Given the description of an element on the screen output the (x, y) to click on. 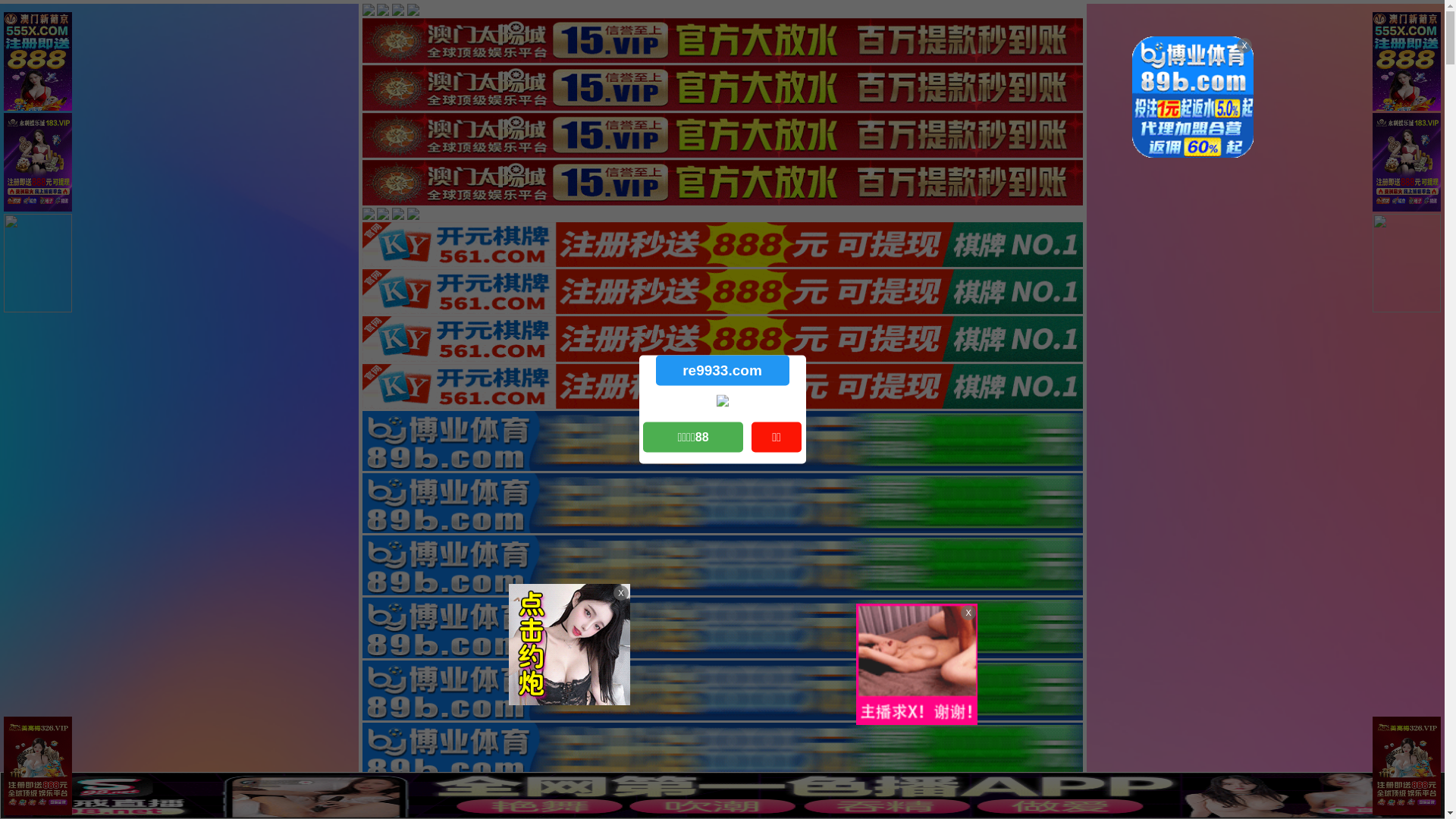
re9933.com Element type: text (721, 369)
X Element type: text (1430, 789)
